Given the description of an element on the screen output the (x, y) to click on. 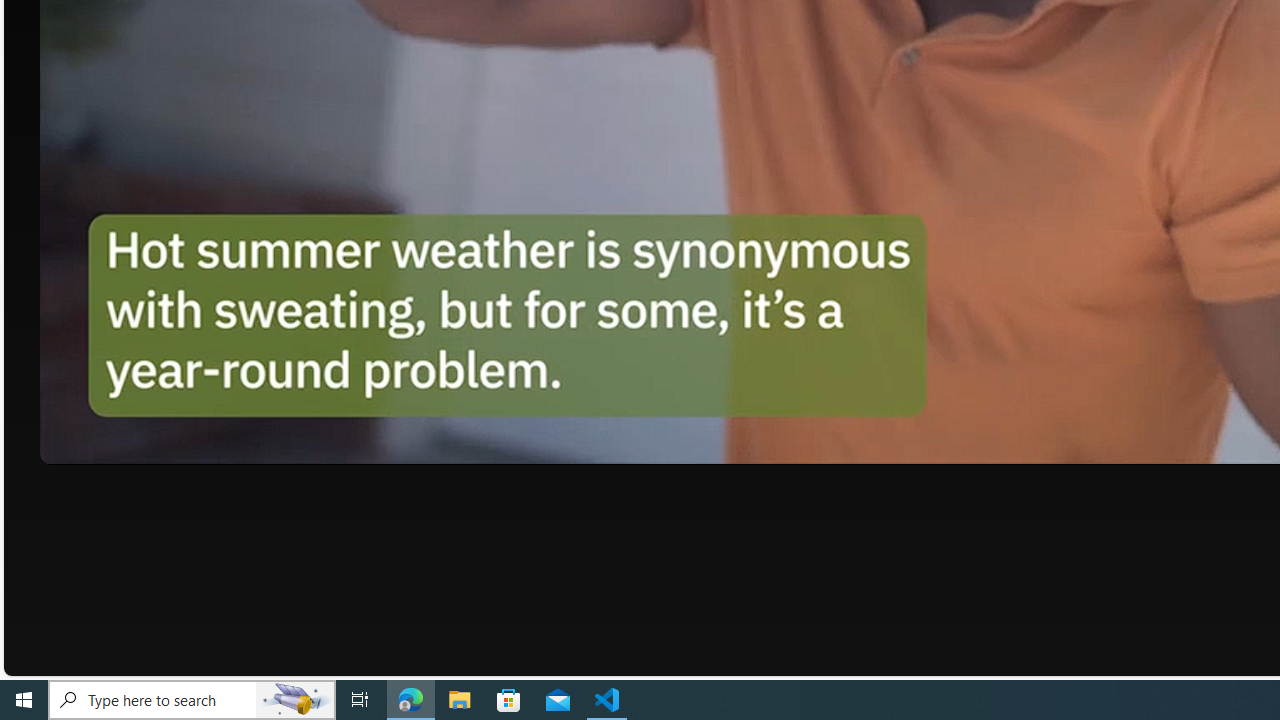
Pause (69, 442)
Seek Forward (150, 442)
Seek Back (109, 442)
